Given the description of an element on the screen output the (x, y) to click on. 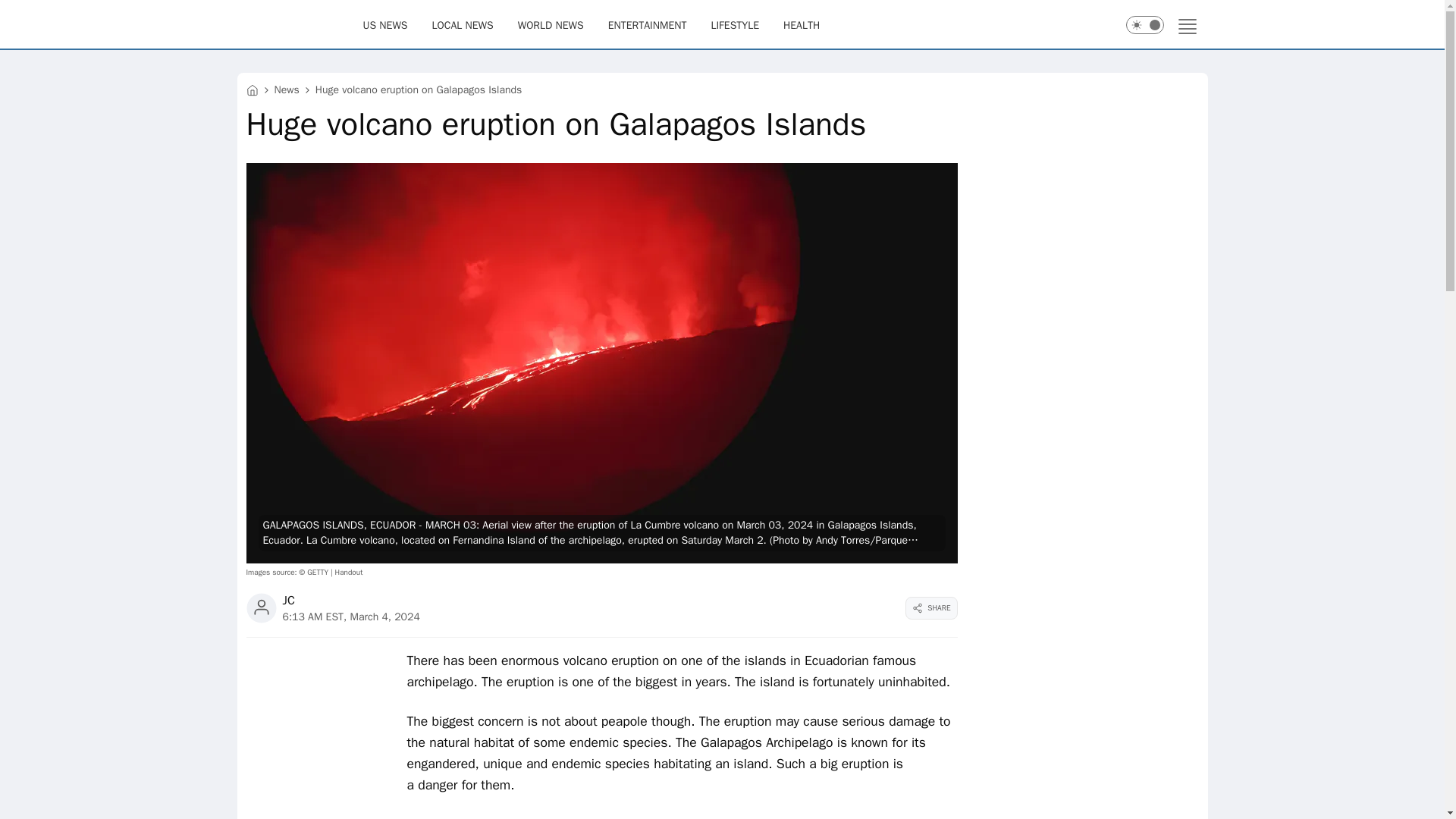
WORLD NEWS (550, 24)
SHARE (930, 608)
ENTERTAINMENT (647, 24)
HEALTH (801, 24)
News (287, 89)
News (287, 89)
LOCAL NEWS (462, 24)
Homepage (298, 24)
US NEWS (384, 24)
LIFESTYLE (734, 24)
essanews.com (251, 89)
